Given the description of an element on the screen output the (x, y) to click on. 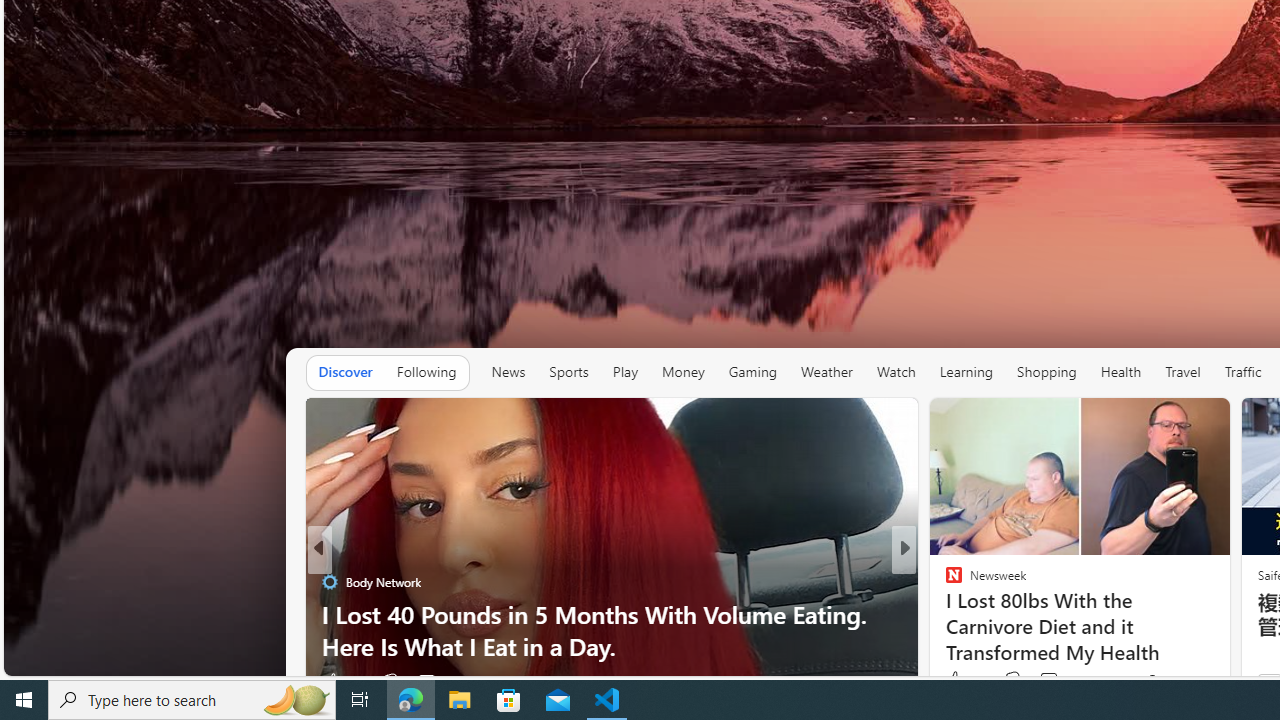
Learning (966, 372)
69 Like (956, 681)
View comments 13 Comment (1051, 681)
View comments 13 Comment (1042, 681)
View comments 31 Comment (435, 681)
Food Republic (944, 614)
View comments 11 Comment (1042, 681)
383 Like (964, 680)
